Given the description of an element on the screen output the (x, y) to click on. 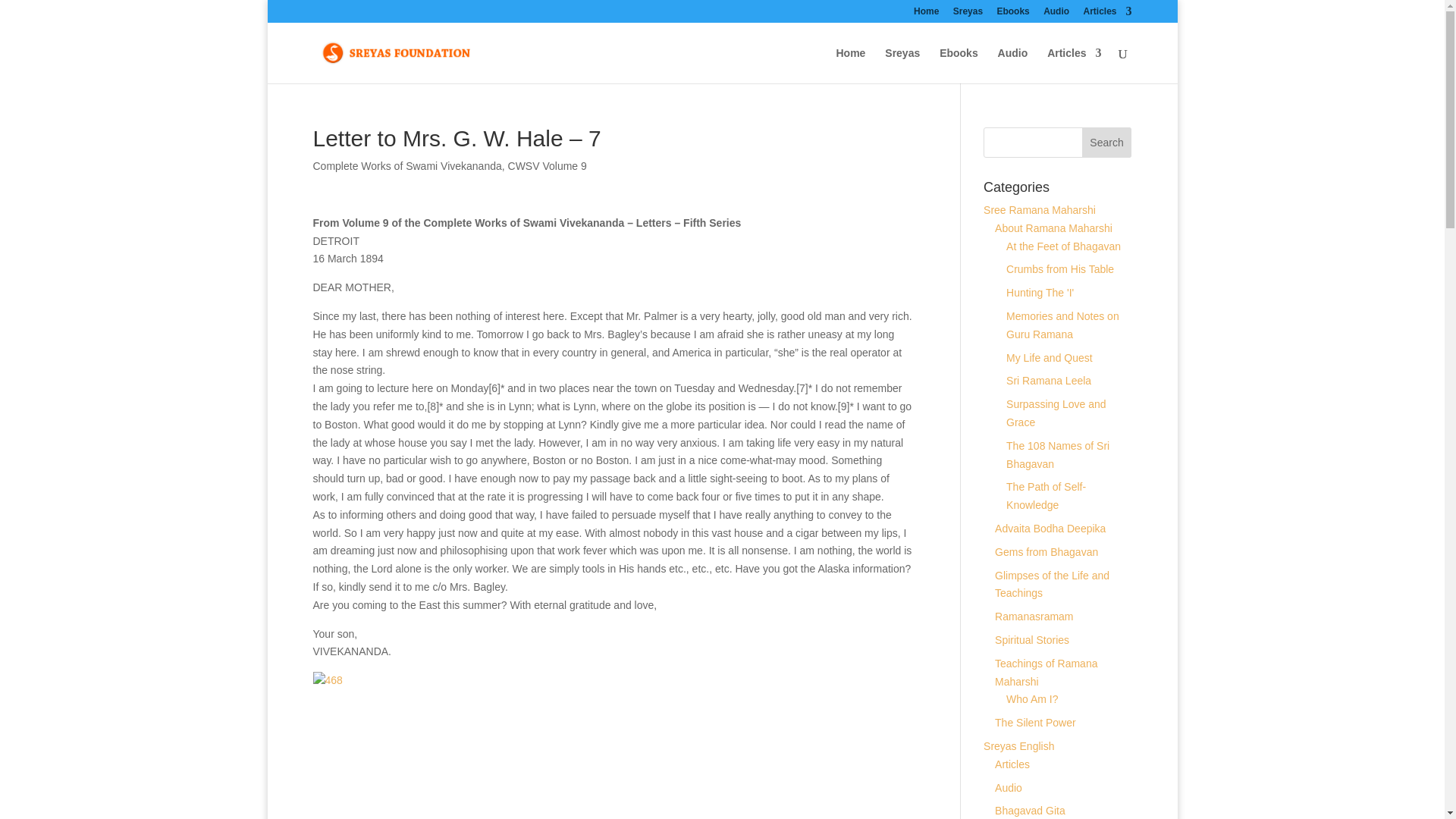
Sree Ramana Maharshi (1040, 209)
Complete Works of Swami Vivekananda (406, 165)
About Ramana Maharshi (1053, 227)
CWSV Volume 9 (547, 165)
Ebooks (958, 65)
Audio (1055, 14)
Sreyas (967, 14)
Search (1106, 142)
Home (926, 14)
At the Feet of Bhagavan (1063, 246)
Ebooks (1012, 14)
Articles (1107, 14)
Search (1106, 142)
Articles (1073, 65)
Sreyas (902, 65)
